Given the description of an element on the screen output the (x, y) to click on. 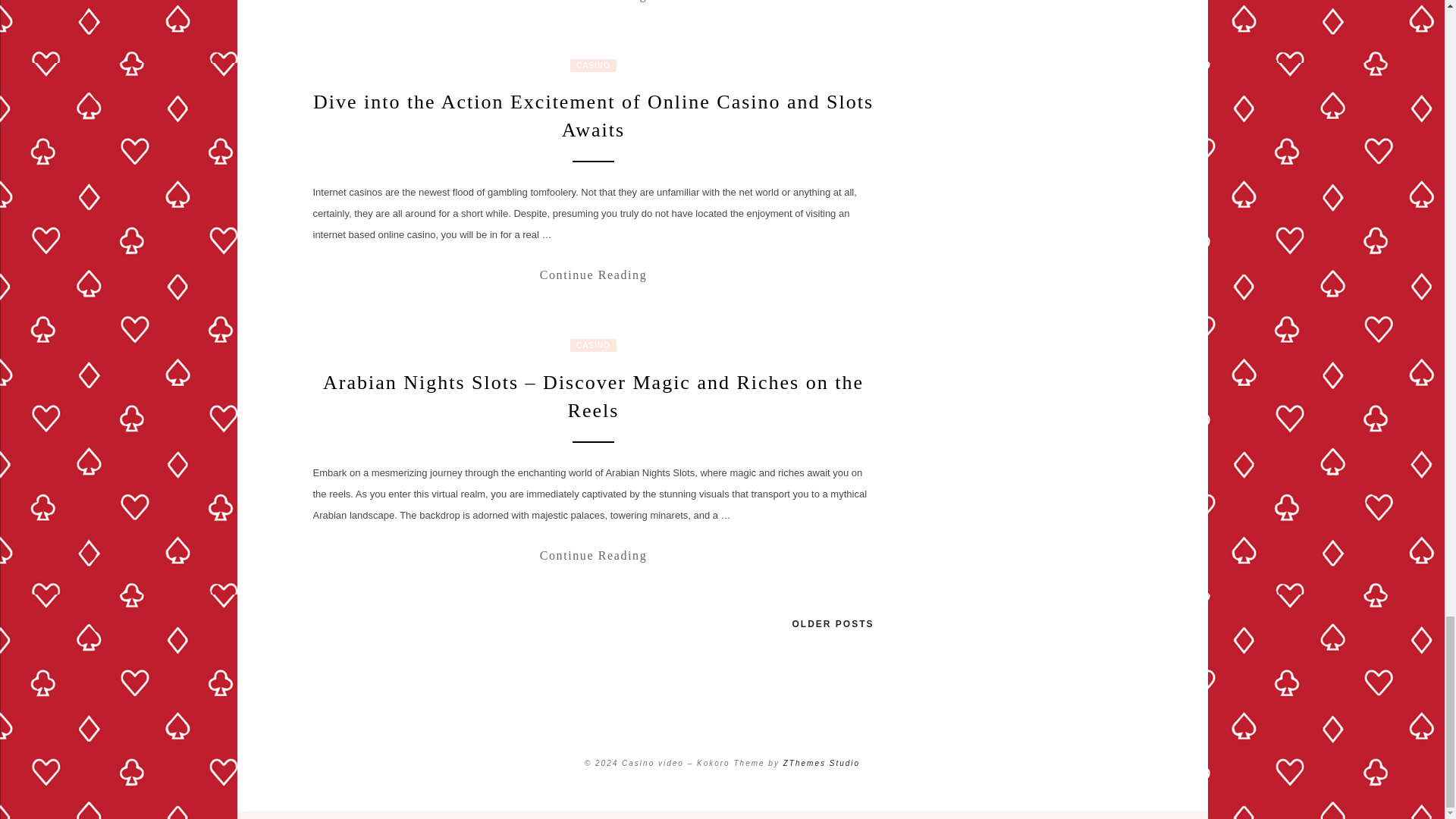
CASINO (592, 65)
CASINO (592, 345)
Continue Reading (593, 274)
Continue Reading (593, 4)
